Given the description of an element on the screen output the (x, y) to click on. 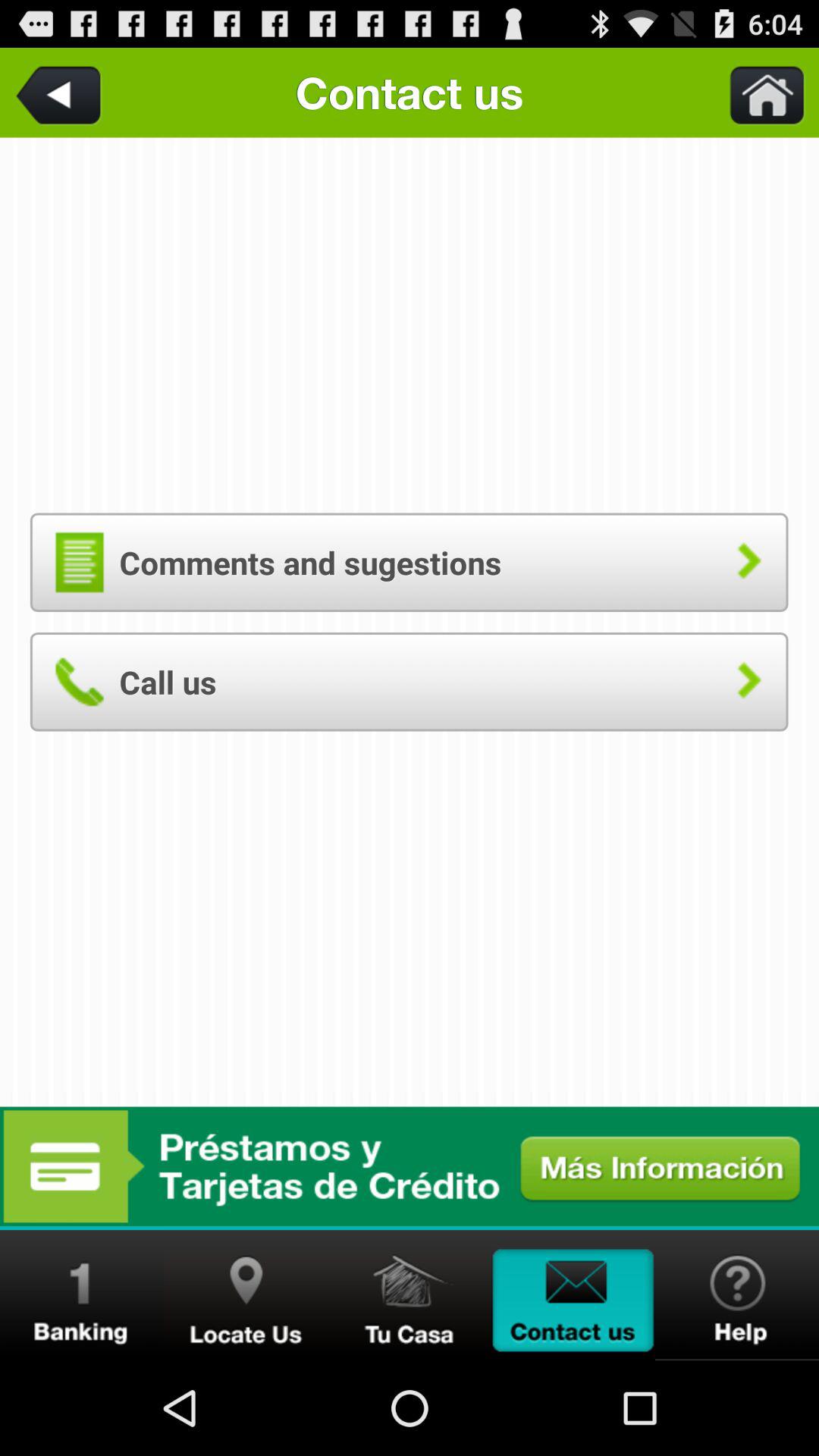
banking category (81, 1295)
